Given the description of an element on the screen output the (x, y) to click on. 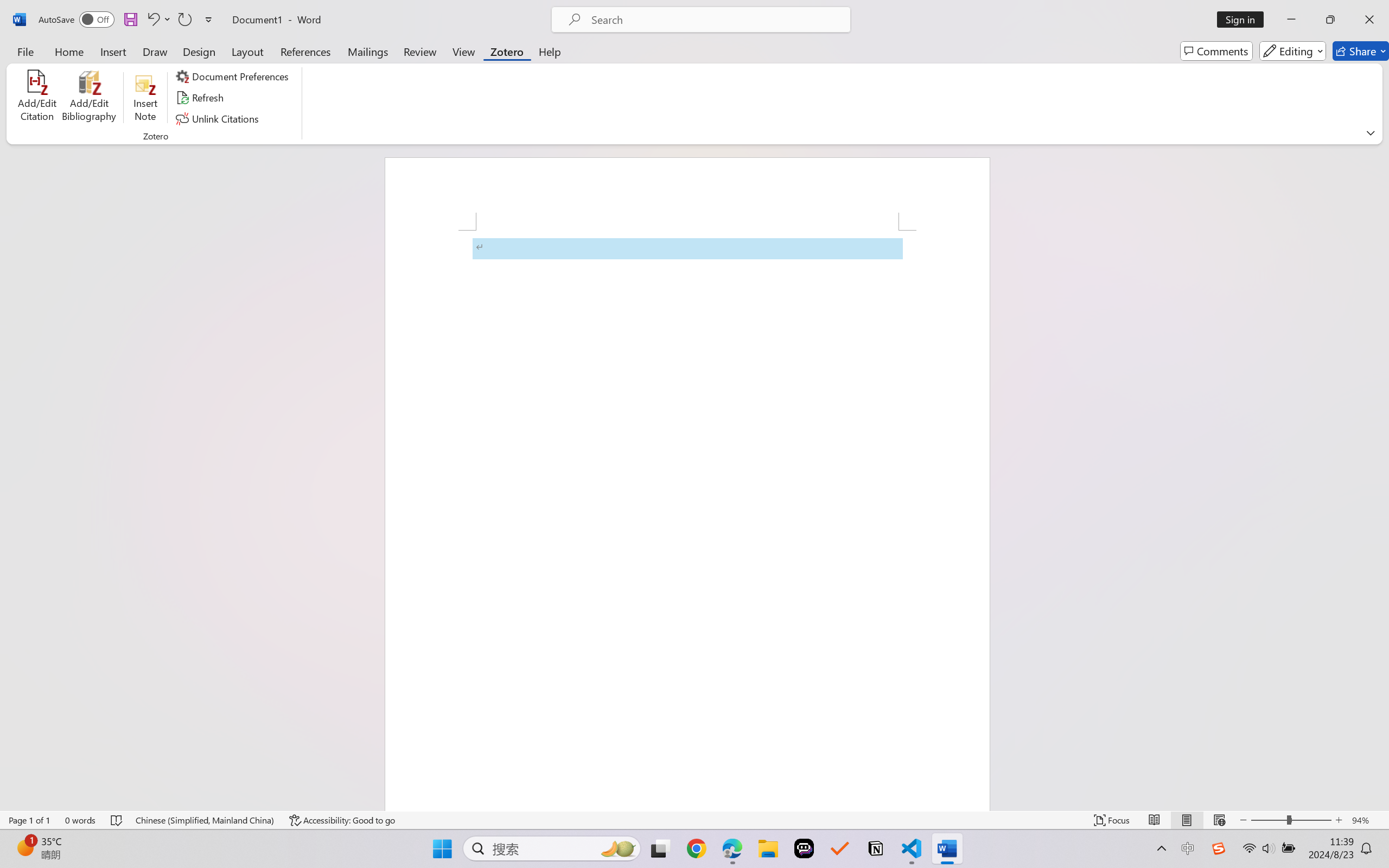
Insert Note (145, 97)
Document Preferences (233, 75)
Undo Apply Quick Style (152, 19)
Editing (1292, 50)
Refresh (201, 97)
